Given the description of an element on the screen output the (x, y) to click on. 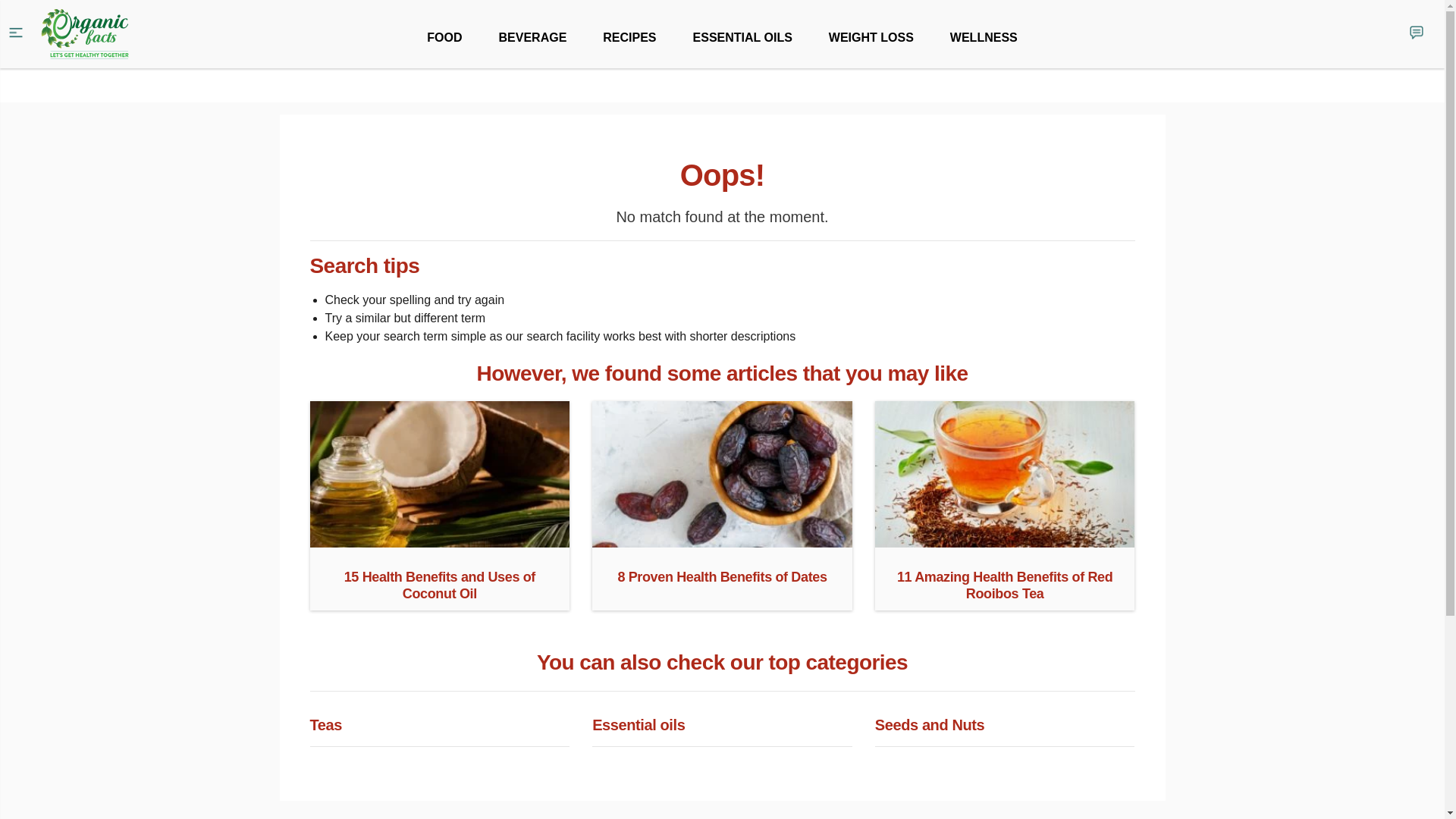
11 Amazing Health Benefits of Red Rooibos Tea (1005, 541)
Organic Facts (85, 34)
8 Proven Health Benefits of Dates (721, 541)
15 Health Benefits and Uses of Coconut Oil (438, 541)
